Given the description of an element on the screen output the (x, y) to click on. 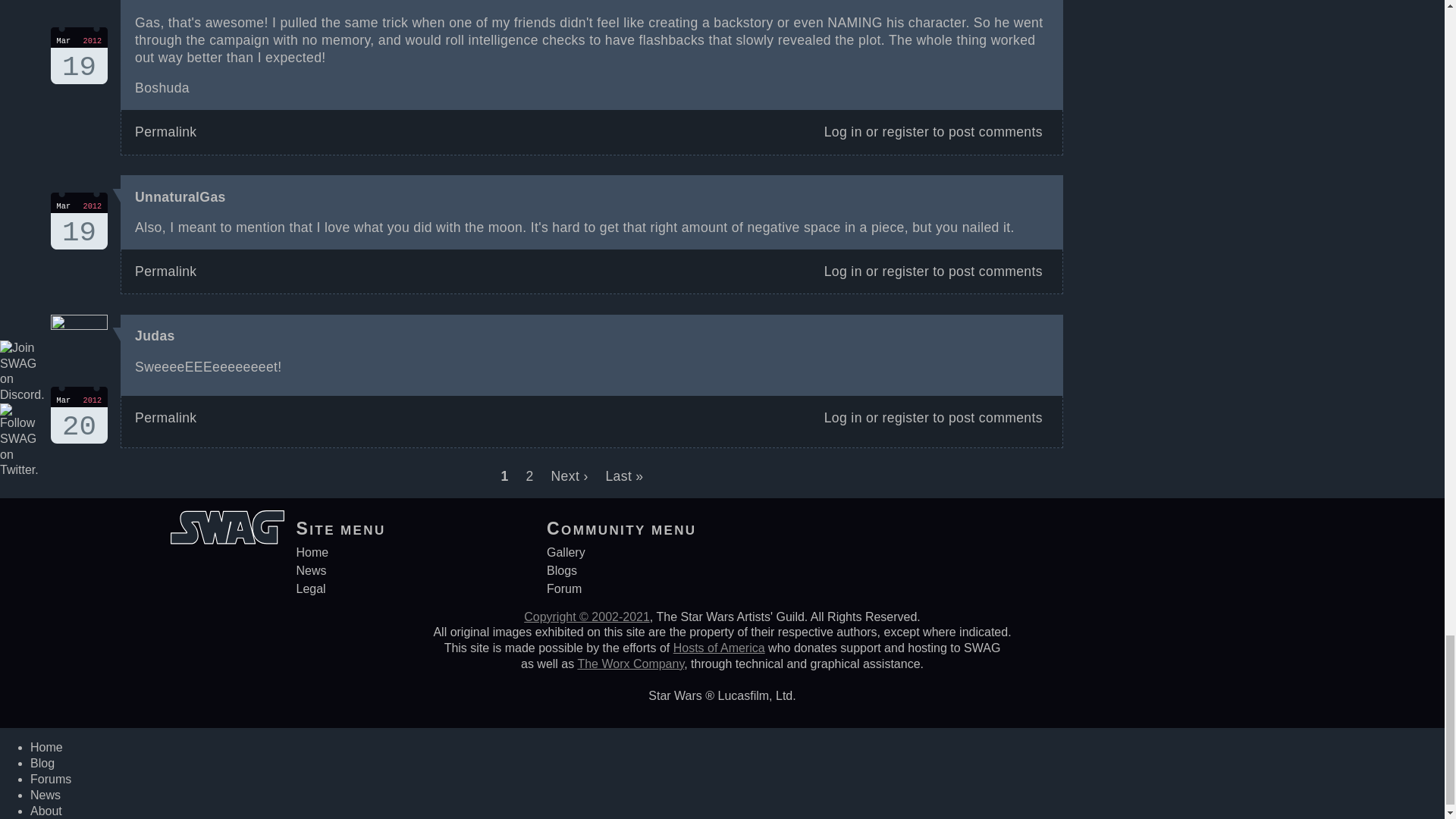
View user profile. (180, 196)
Go to next page (78, 414)
Go to last page (571, 476)
View user profile. (78, 55)
